Given the description of an element on the screen output the (x, y) to click on. 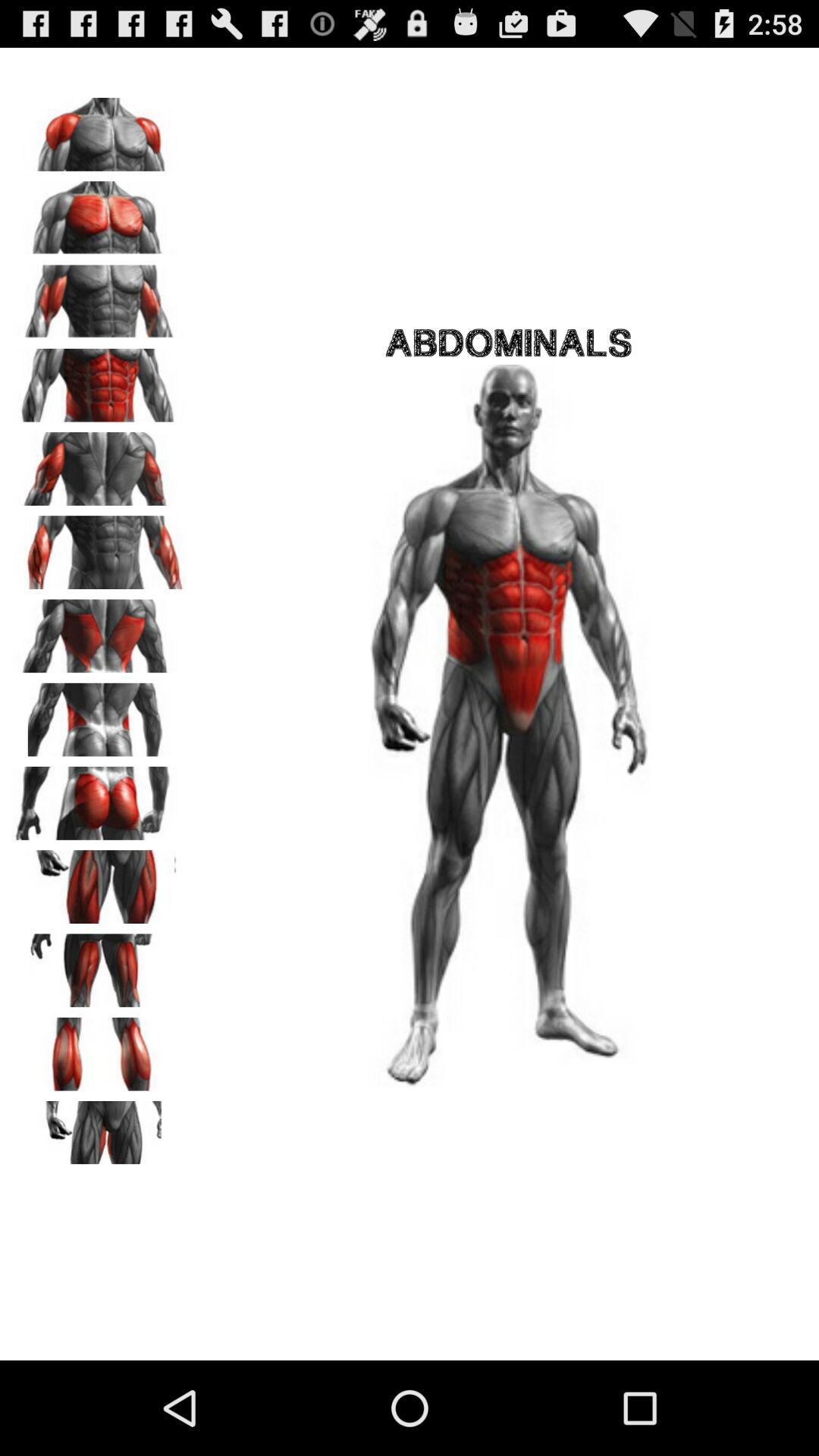
forearms (99, 547)
